Given the description of an element on the screen output the (x, y) to click on. 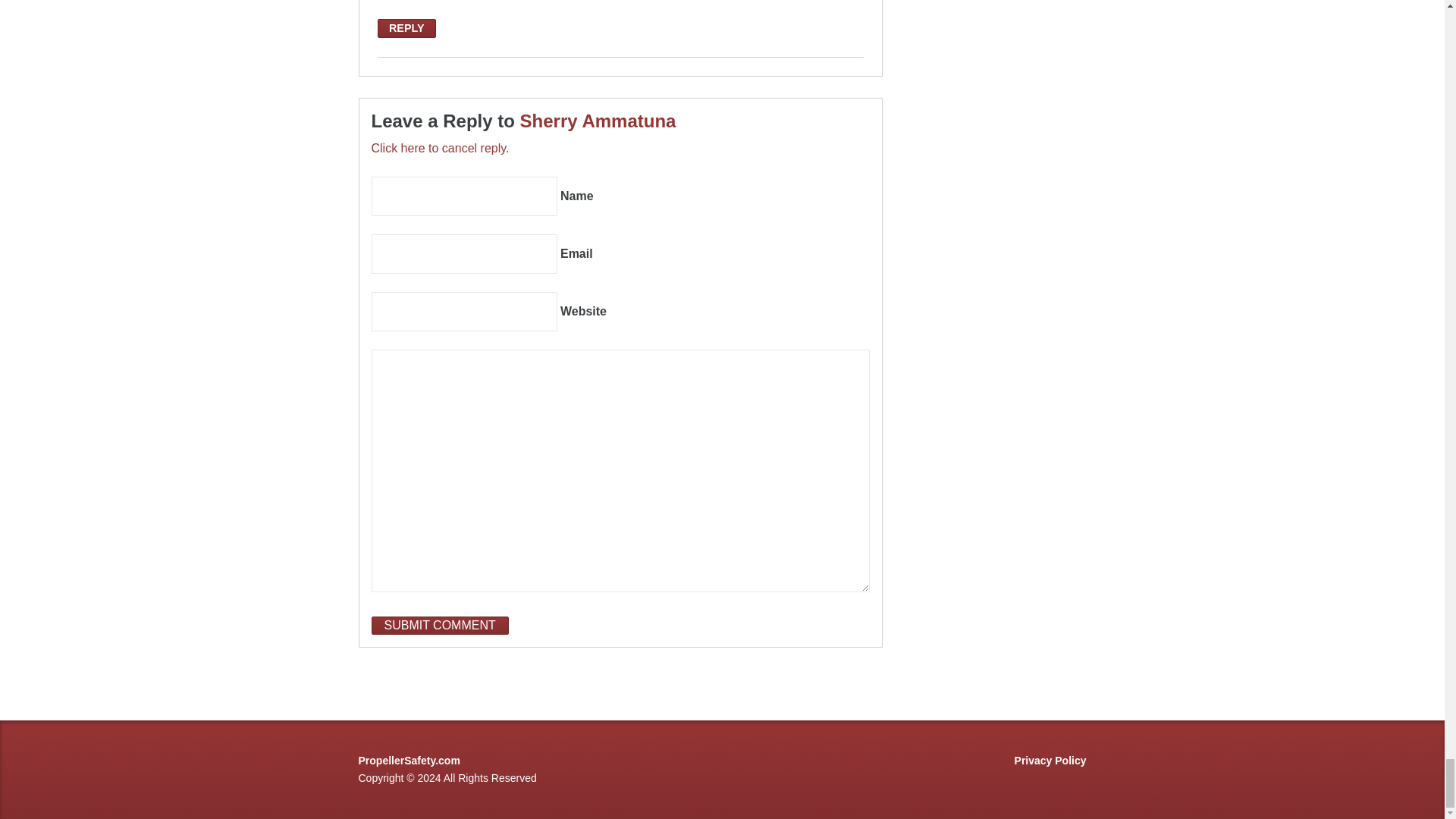
Submit Comment (439, 625)
